Given the description of an element on the screen output the (x, y) to click on. 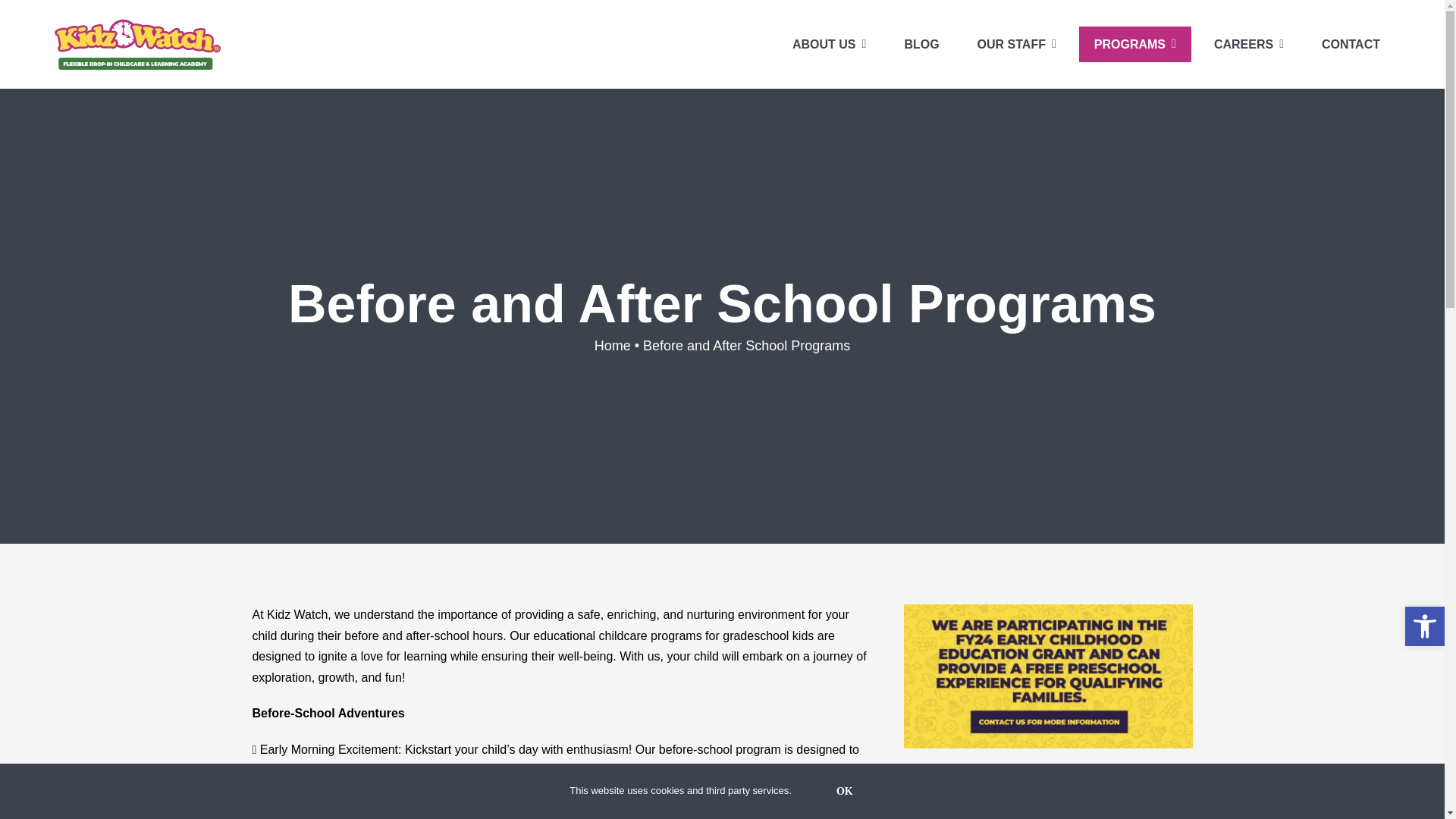
PROGRAMS (1134, 44)
Accessibility Tools (1424, 626)
Home (612, 345)
CONTACT (1350, 44)
BLOG (920, 44)
OUR STAFF (1016, 44)
CAREERS (1248, 44)
ABOUT US (828, 44)
